Given the description of an element on the screen output the (x, y) to click on. 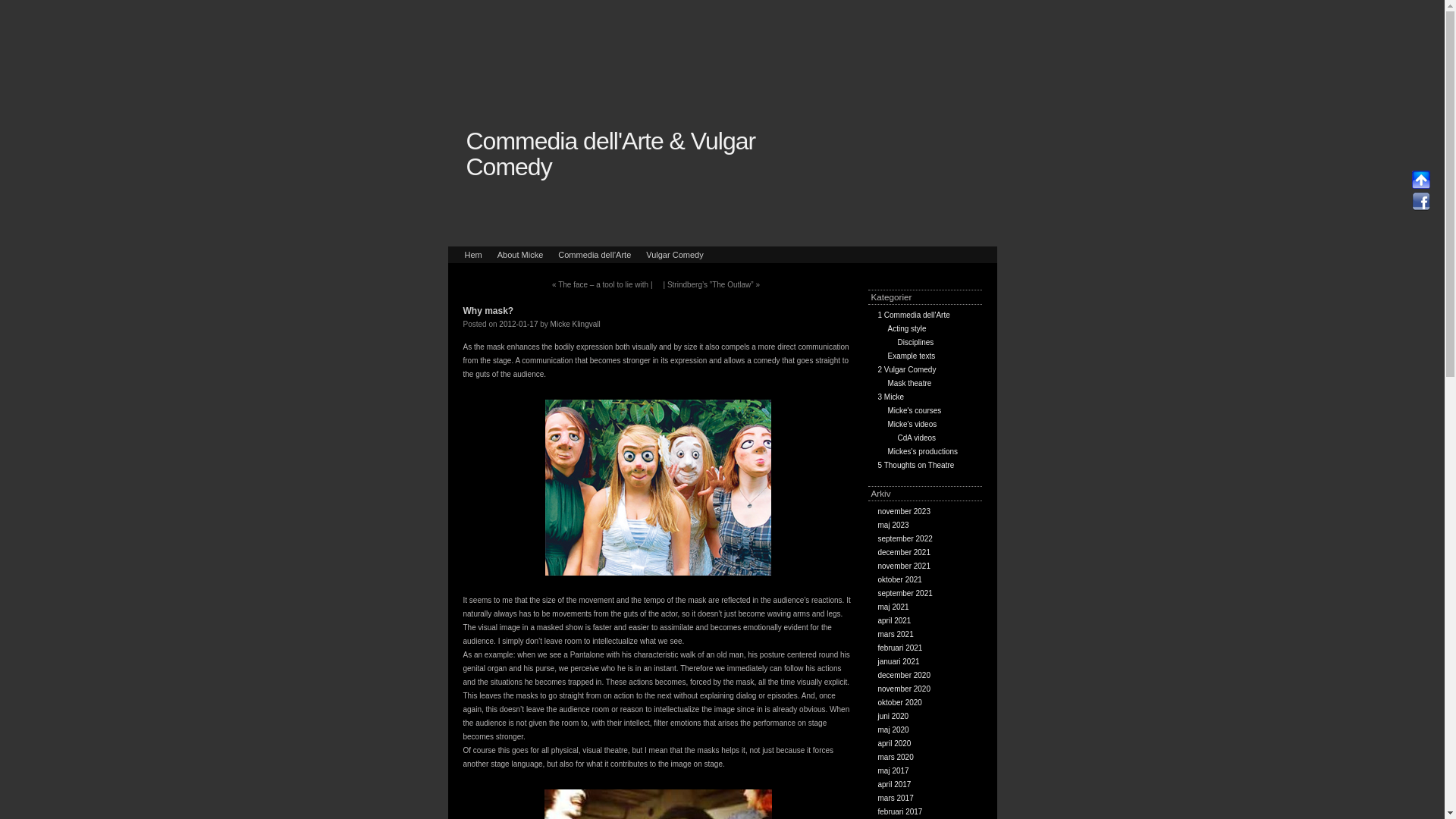
Masks11 (657, 487)
TSCdA04 (657, 804)
View all posts by Micke Klingvall (574, 324)
Vulgar Comedy (674, 254)
About Micke (520, 254)
Hem (473, 254)
